Given the description of an element on the screen output the (x, y) to click on. 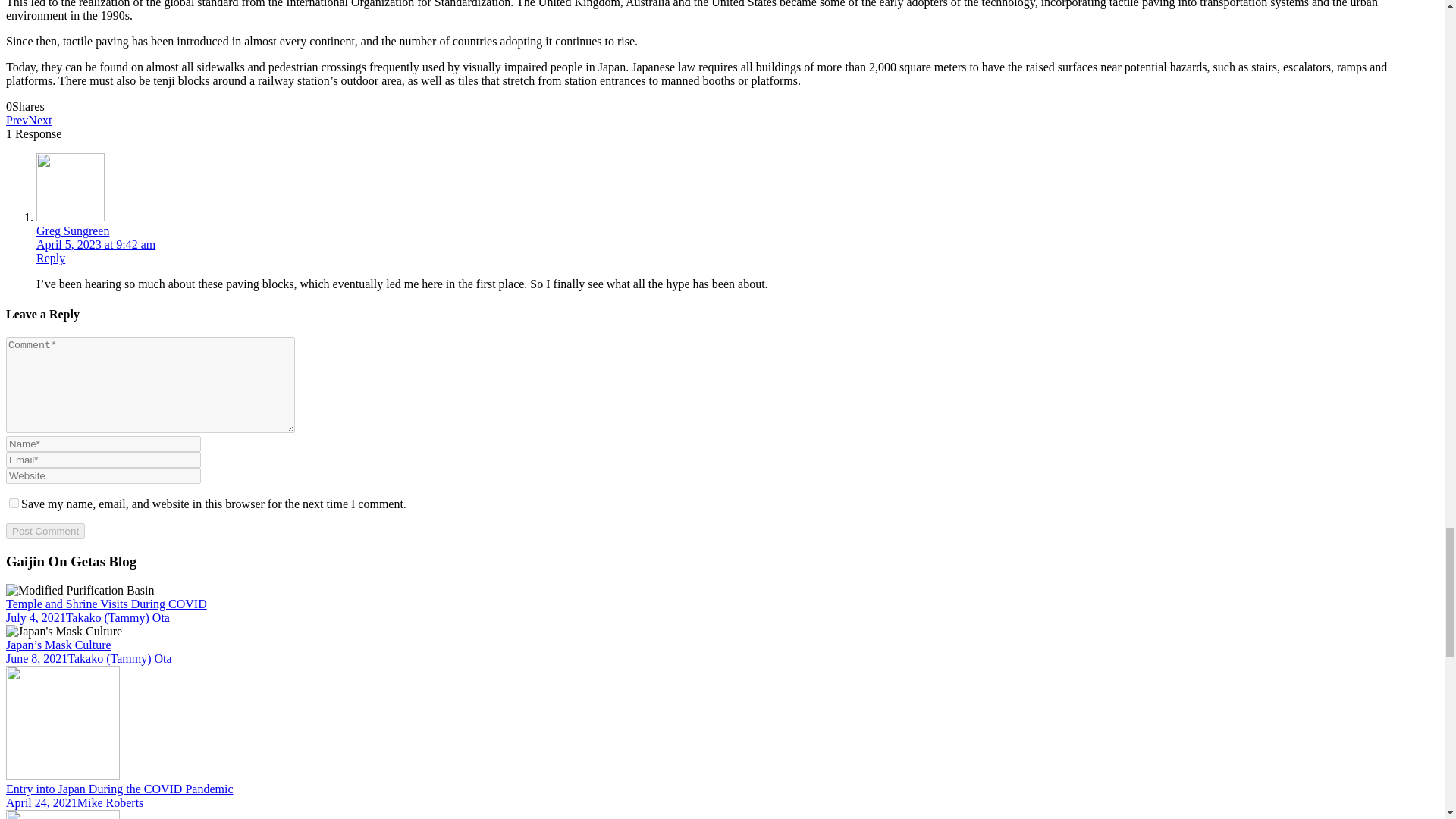
yes (13, 502)
Post Comment (44, 530)
Modified Purification Basin (79, 590)
